Given the description of an element on the screen output the (x, y) to click on. 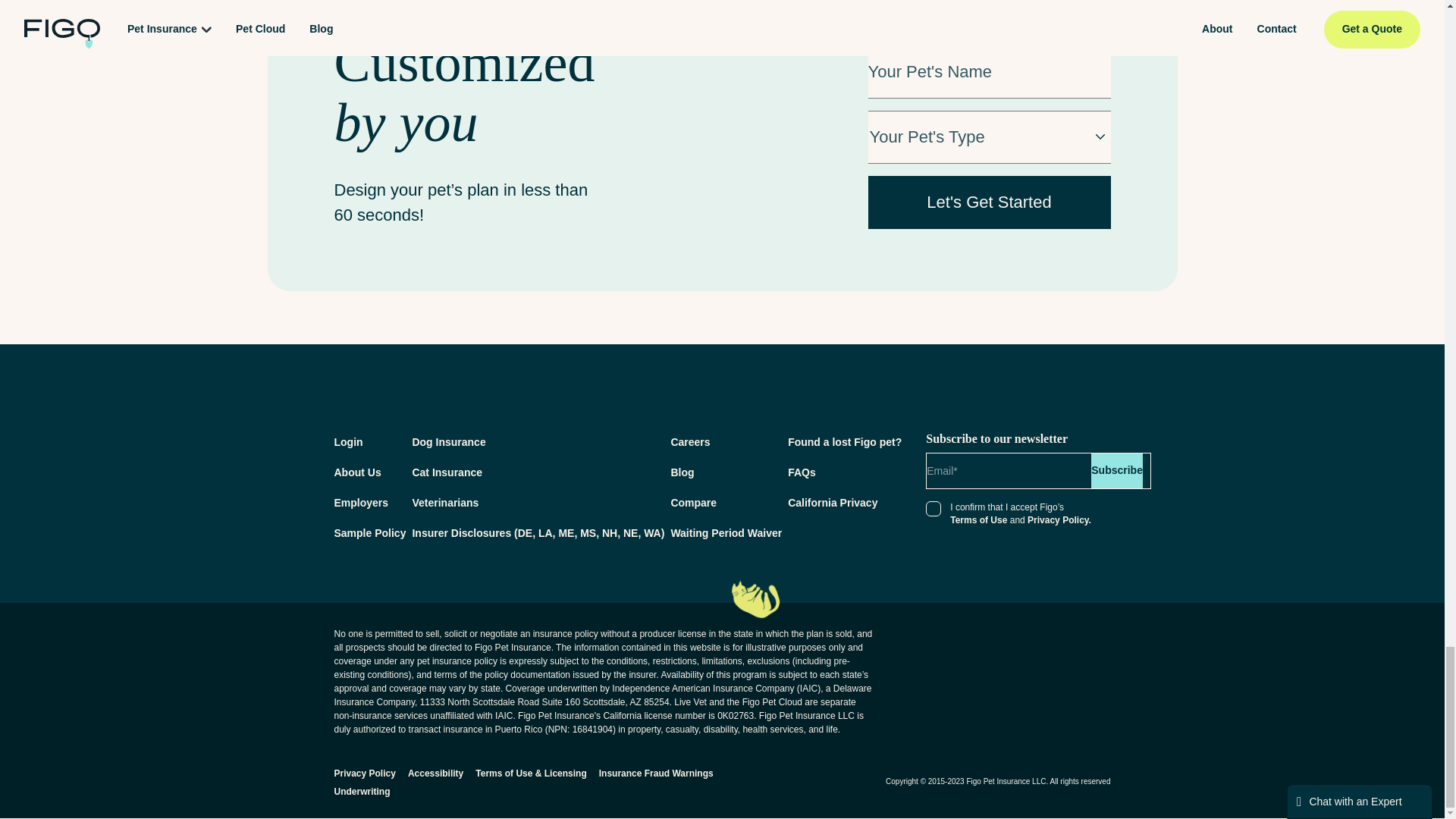
opens in a new window  (844, 441)
About Us (356, 472)
Employers (360, 502)
Compare (692, 502)
opens in a new window  (725, 532)
Cat Insurance (446, 472)
opens in a new window  (1018, 645)
Found a lost Figo pet? (844, 441)
opens in a new window  (537, 532)
Blog (681, 472)
opens in a new window  (689, 441)
FAQs (801, 472)
Veterinarians (445, 502)
opens in a new window  (369, 532)
Login (347, 441)
